Given the description of an element on the screen output the (x, y) to click on. 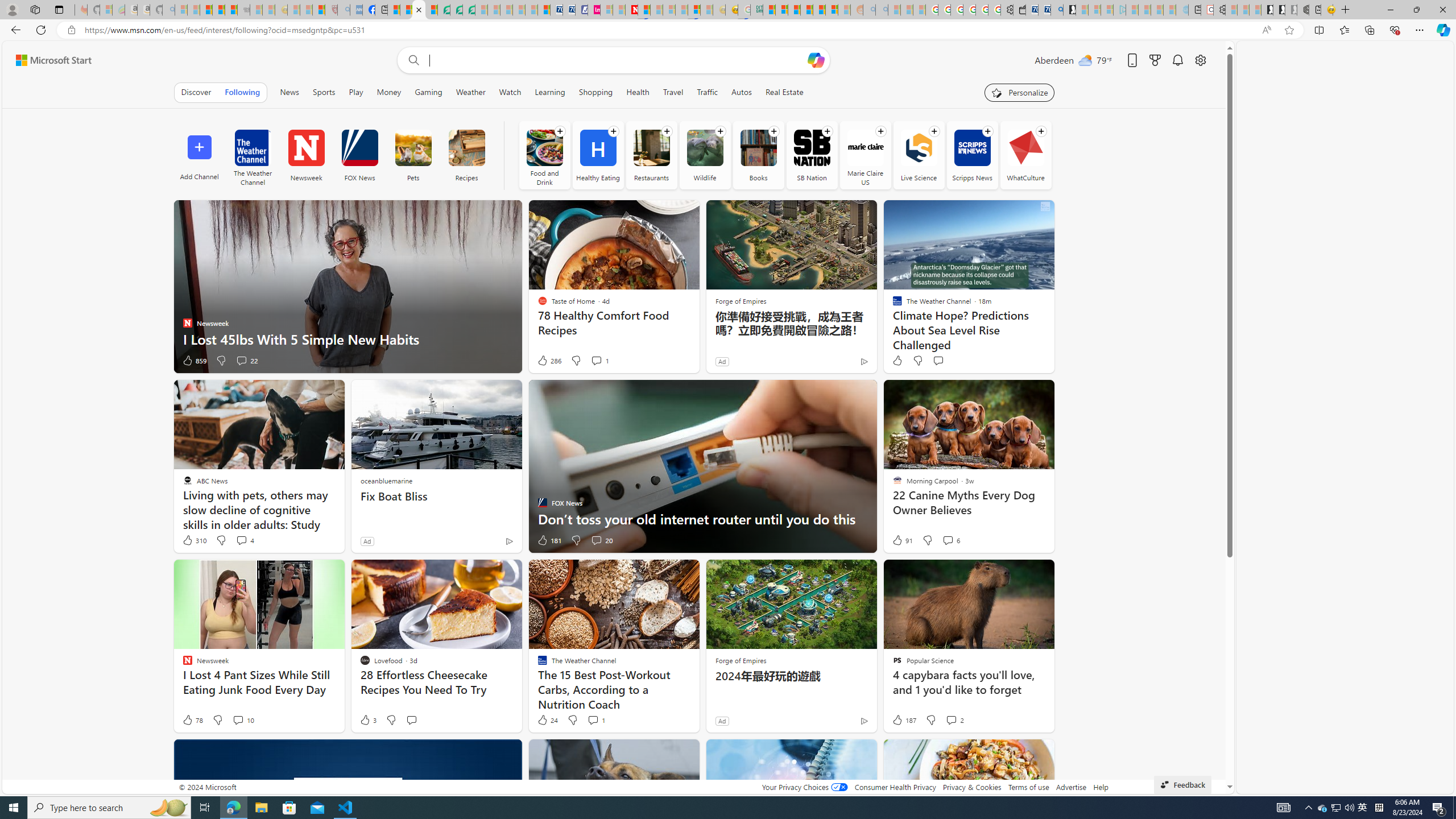
Microsoft Word - consumer-privacy address update 2.2021 (468, 9)
